Given the description of an element on the screen output the (x, y) to click on. 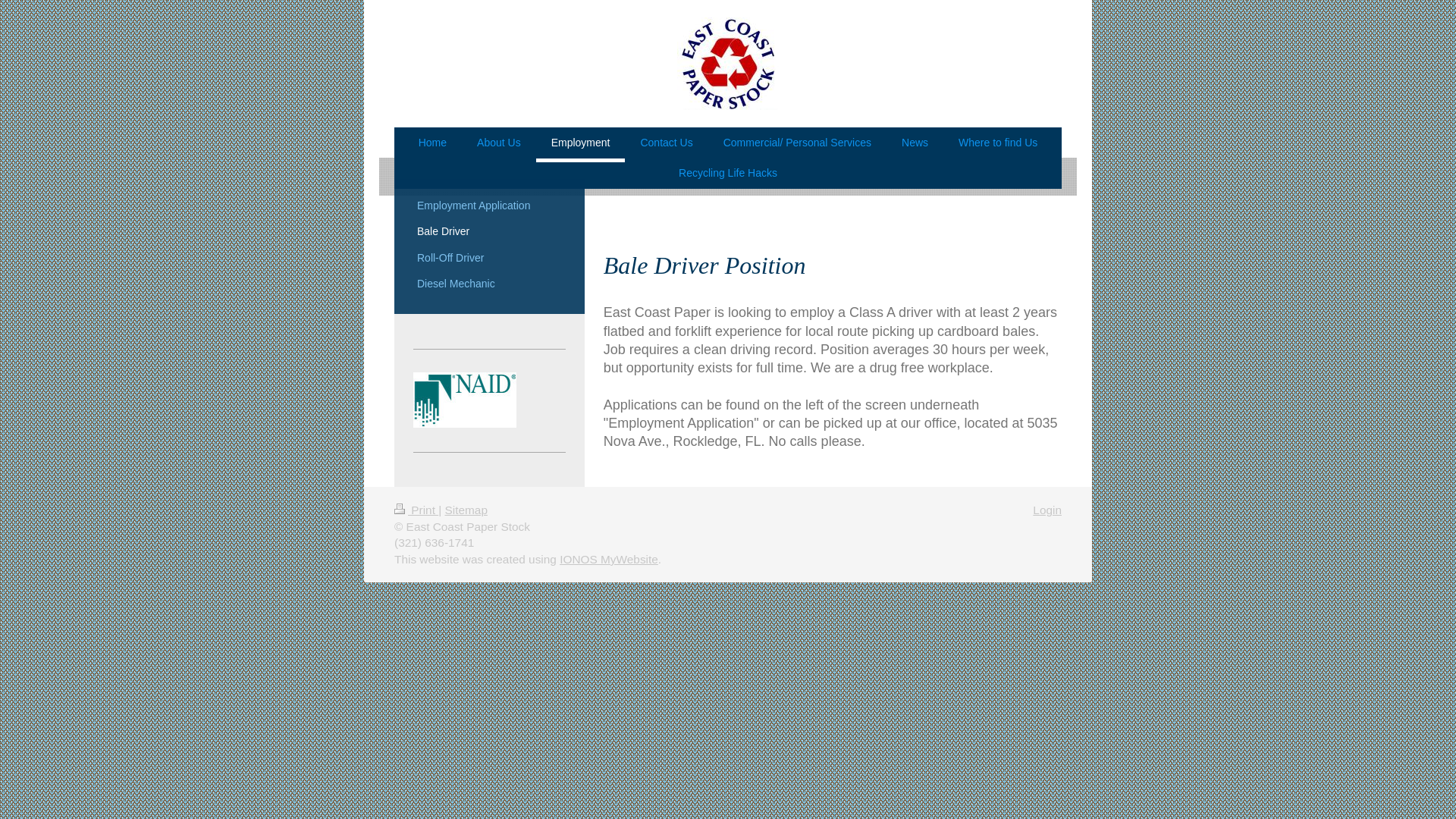
Roll-Off Driver (452, 258)
Contact Us (665, 144)
Diesel Mechanic (457, 284)
Home (432, 144)
Employment (580, 144)
Recycling Life Hacks (727, 175)
Employment Application (474, 207)
About Us (498, 144)
Where to find Us (997, 144)
Bale Driver (444, 233)
News (914, 144)
